Given the description of an element on the screen output the (x, y) to click on. 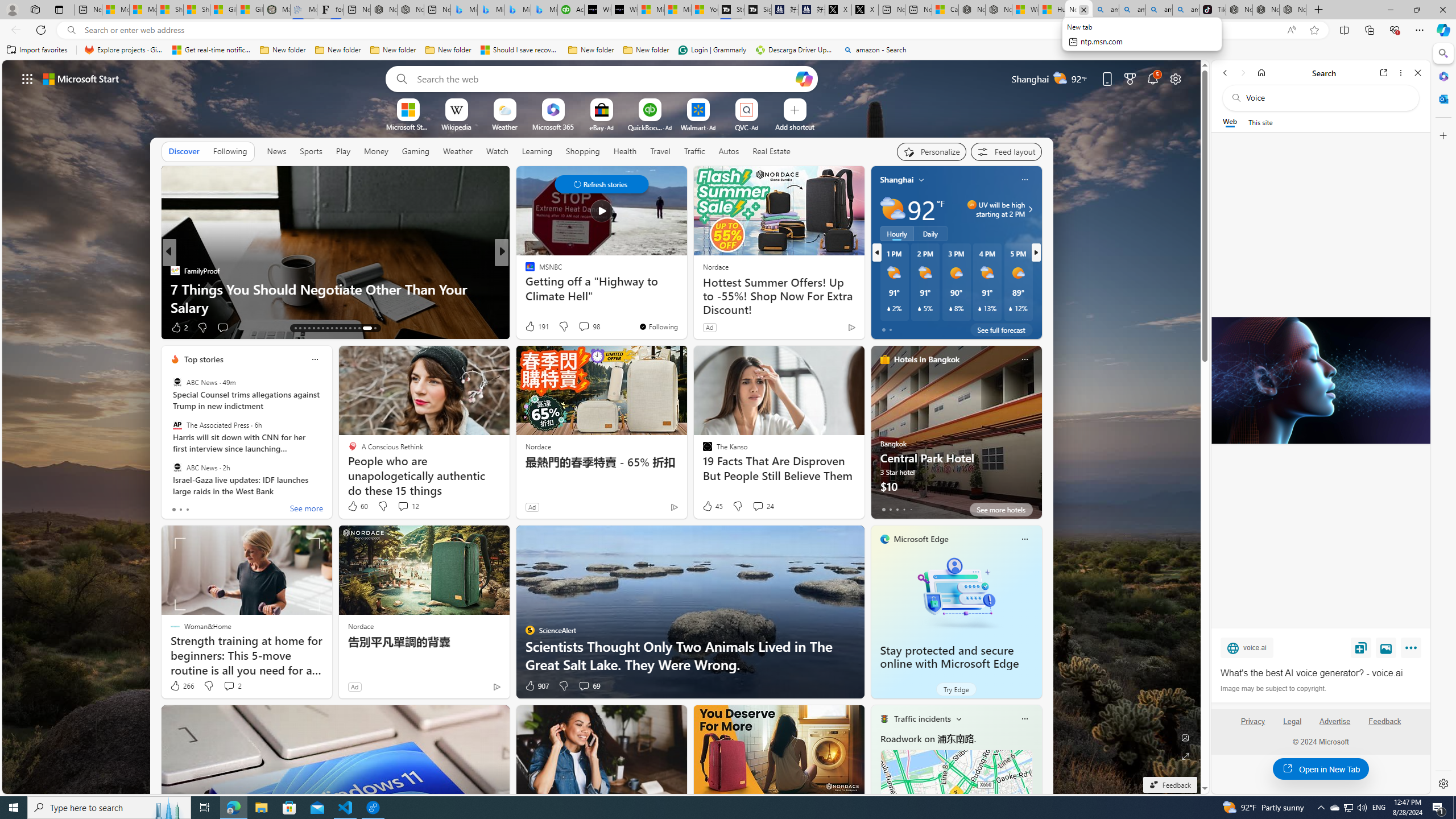
Gaming (415, 151)
Money (375, 151)
Sports (310, 151)
Real Estate (771, 151)
Shopping (582, 151)
You're following MSNBC (657, 326)
News (276, 151)
